Given the description of an element on the screen output the (x, y) to click on. 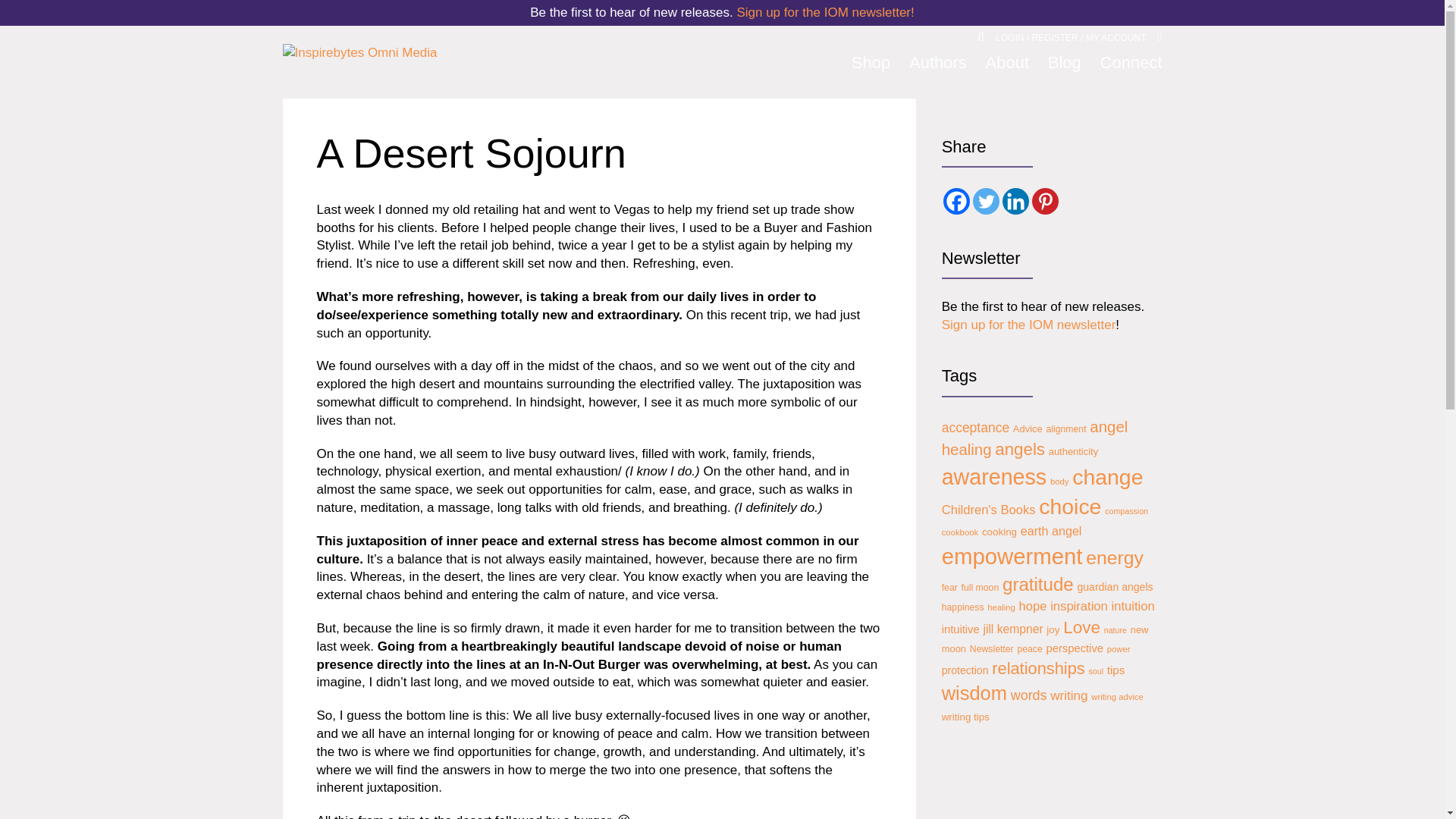
Connect (1130, 62)
Blog (1064, 62)
cookbook (960, 532)
awareness (994, 477)
Pinterest (1045, 201)
Sign up for the IOM newsletter (1029, 324)
Children's Books (988, 509)
compassion (1126, 511)
choice (1069, 506)
About (1007, 62)
